Given the description of an element on the screen output the (x, y) to click on. 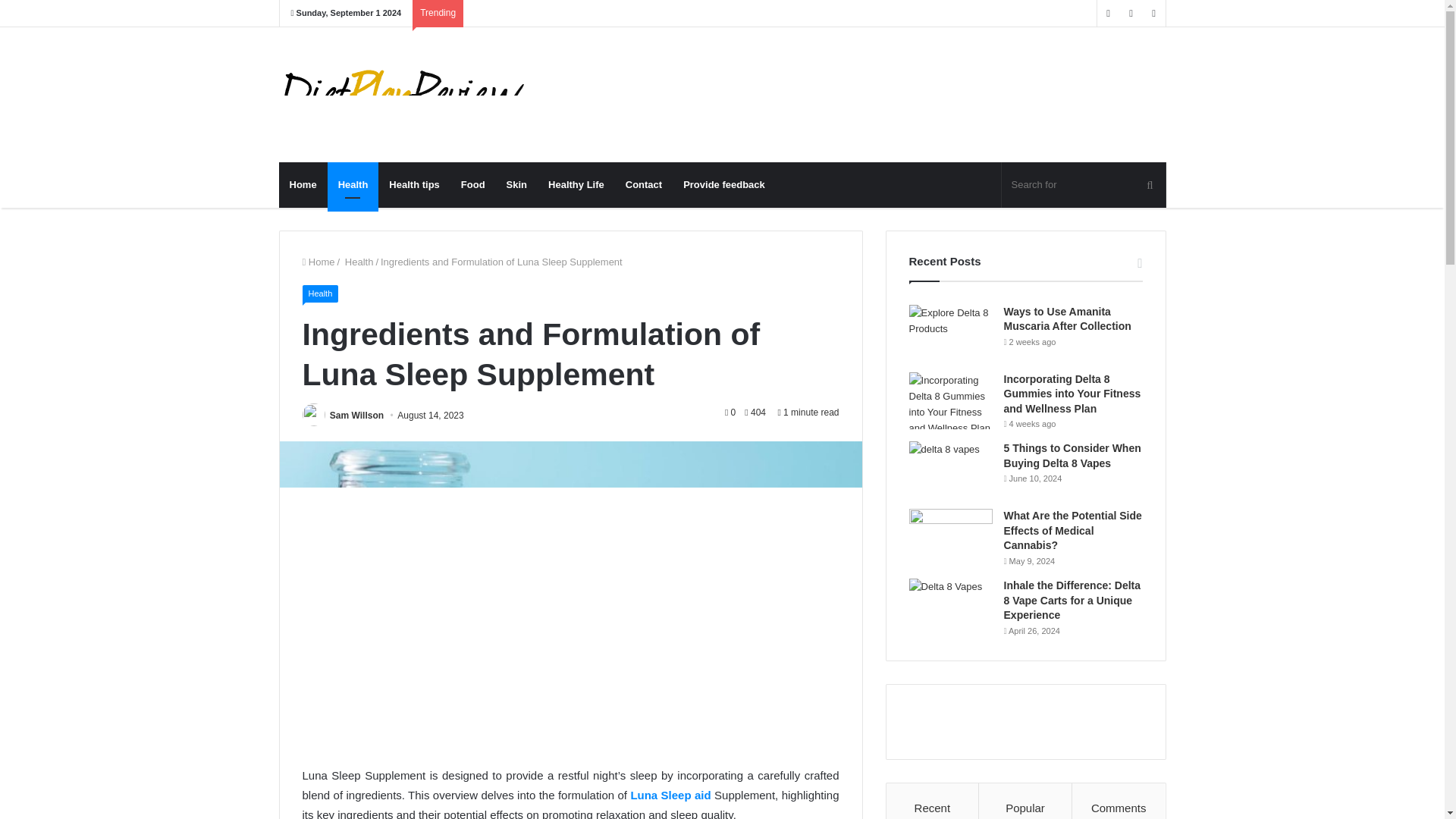
Food (472, 185)
Contact (643, 185)
Healthy Life (575, 185)
Health (352, 185)
Home (303, 185)
Sam Willson (357, 415)
Sam Willson (357, 415)
Health (357, 261)
0 (730, 412)
Health tips (413, 185)
